Given the description of an element on the screen output the (x, y) to click on. 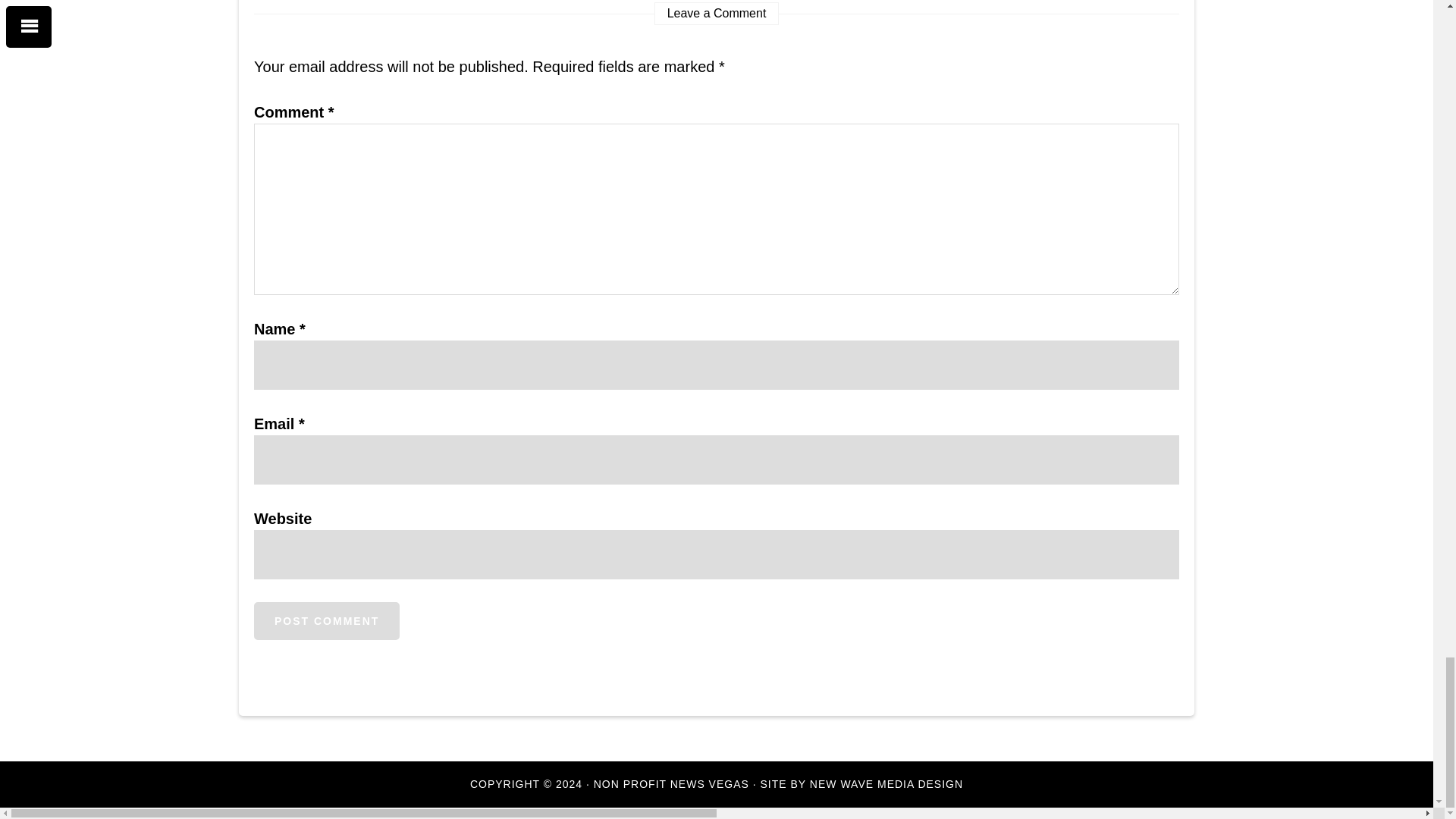
Post Comment (325, 620)
NEW WAVE MEDIA DESIGN (885, 784)
Post Comment (325, 620)
